Given the description of an element on the screen output the (x, y) to click on. 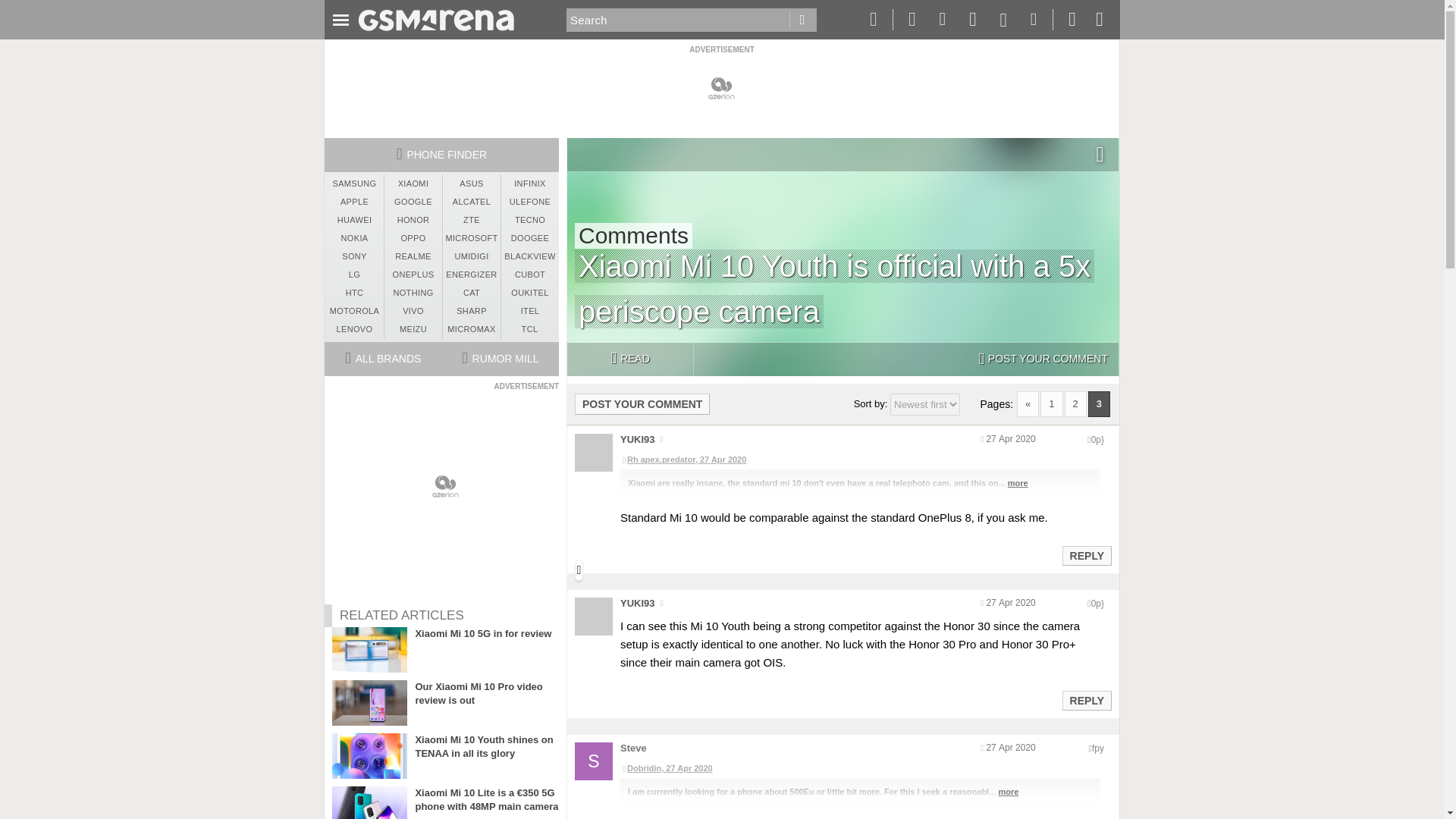
Reply to this post (1086, 555)
Encoded anonymized location (1096, 603)
Sort comments by (924, 404)
Encoded anonymized location (1096, 439)
POST YOUR COMMENT (1042, 359)
Go (802, 19)
more (1017, 482)
READ (630, 359)
Rh apex.predator, 27 Apr 2020 (859, 459)
Reply to this post (1086, 700)
POST YOUR COMMENT (642, 403)
YUKI93 (637, 439)
Go (802, 19)
Encoded anonymized location (1097, 747)
